Given the description of an element on the screen output the (x, y) to click on. 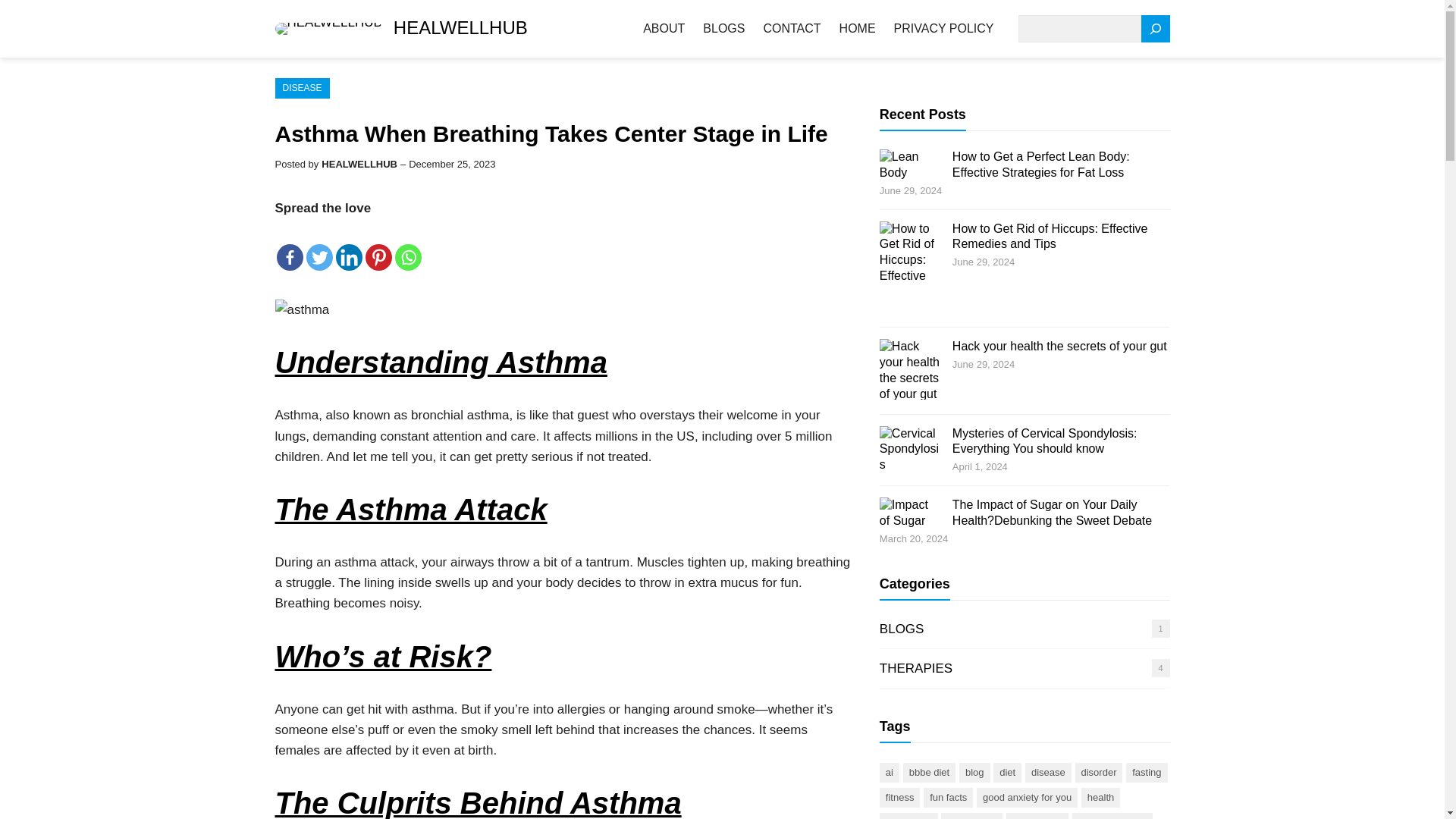
BLOGS (901, 628)
CONTACT (791, 28)
THERAPIES (915, 667)
How to Get Rid of Hiccups: Effective Remedies and Tips (1050, 235)
HEALWELLHUB (460, 27)
PRIVACY POLICY (943, 28)
HOME (858, 28)
ABOUT (663, 28)
DISEASE (302, 87)
BLOGS (723, 28)
Hack your health the secrets of your gut (1059, 345)
